Given the description of an element on the screen output the (x, y) to click on. 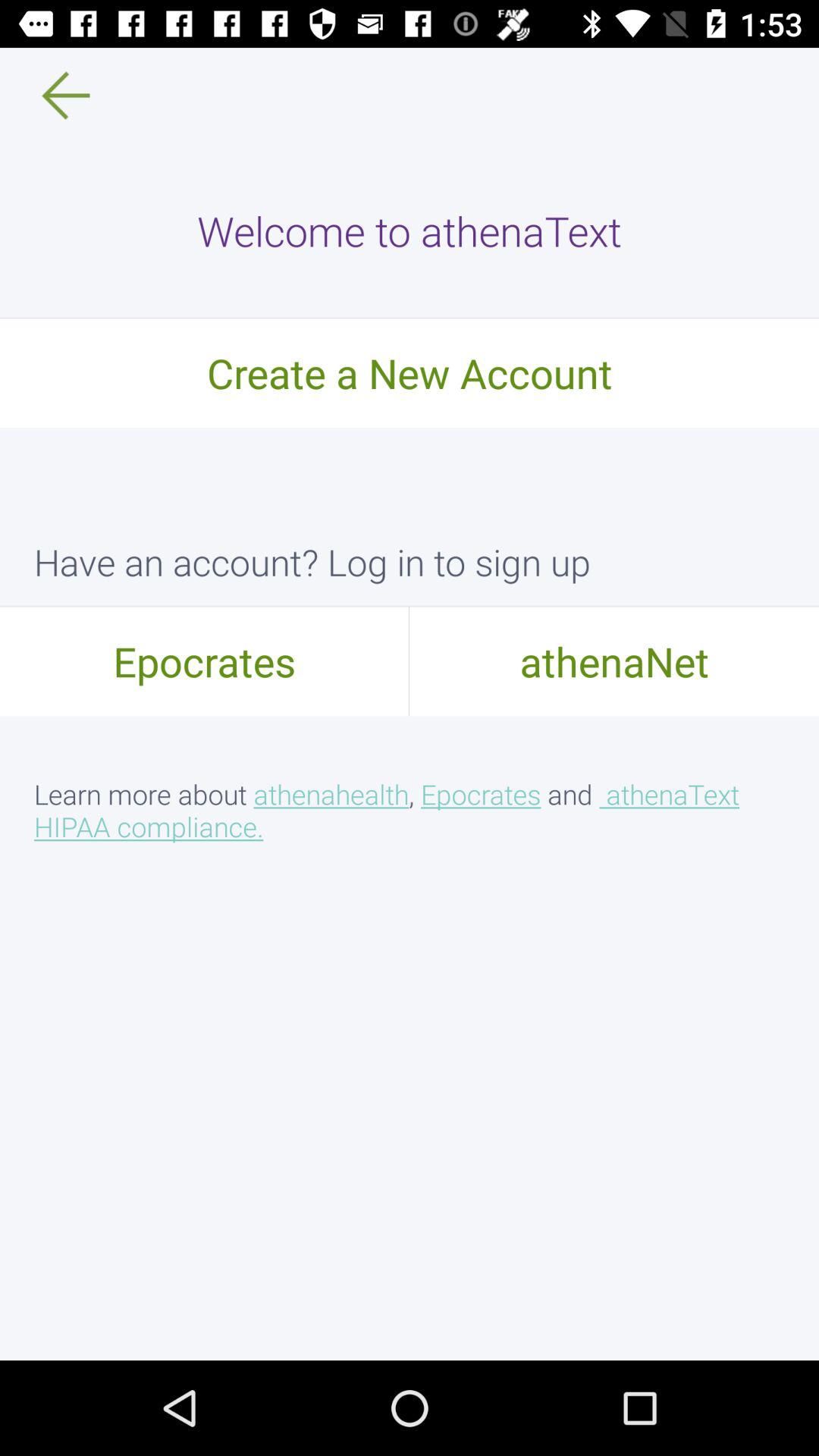
launch the icon at the top left corner (55, 95)
